Given the description of an element on the screen output the (x, y) to click on. 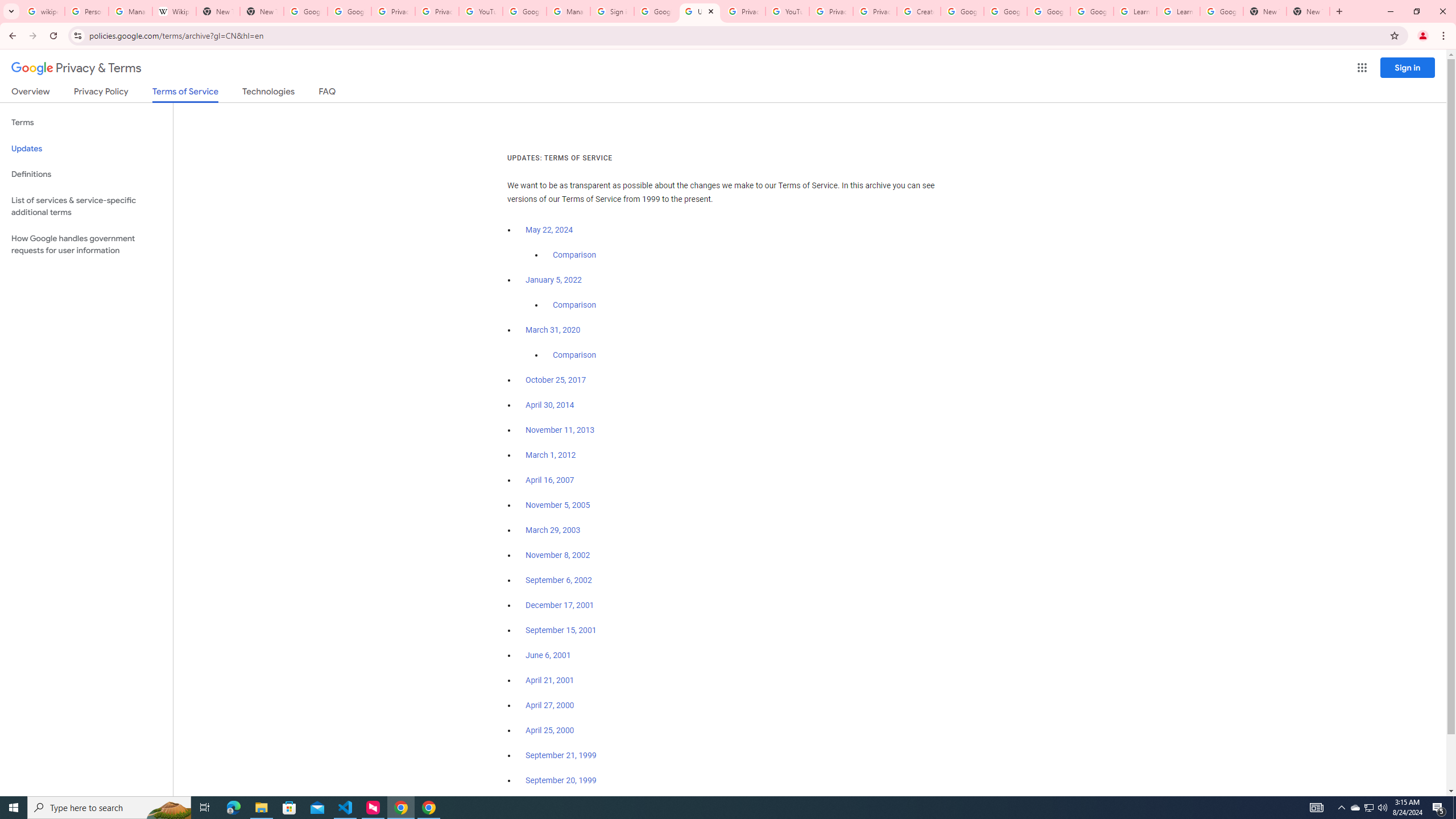
YouTube (481, 11)
Google Account Help (1048, 11)
